Given the description of an element on the screen output the (x, y) to click on. 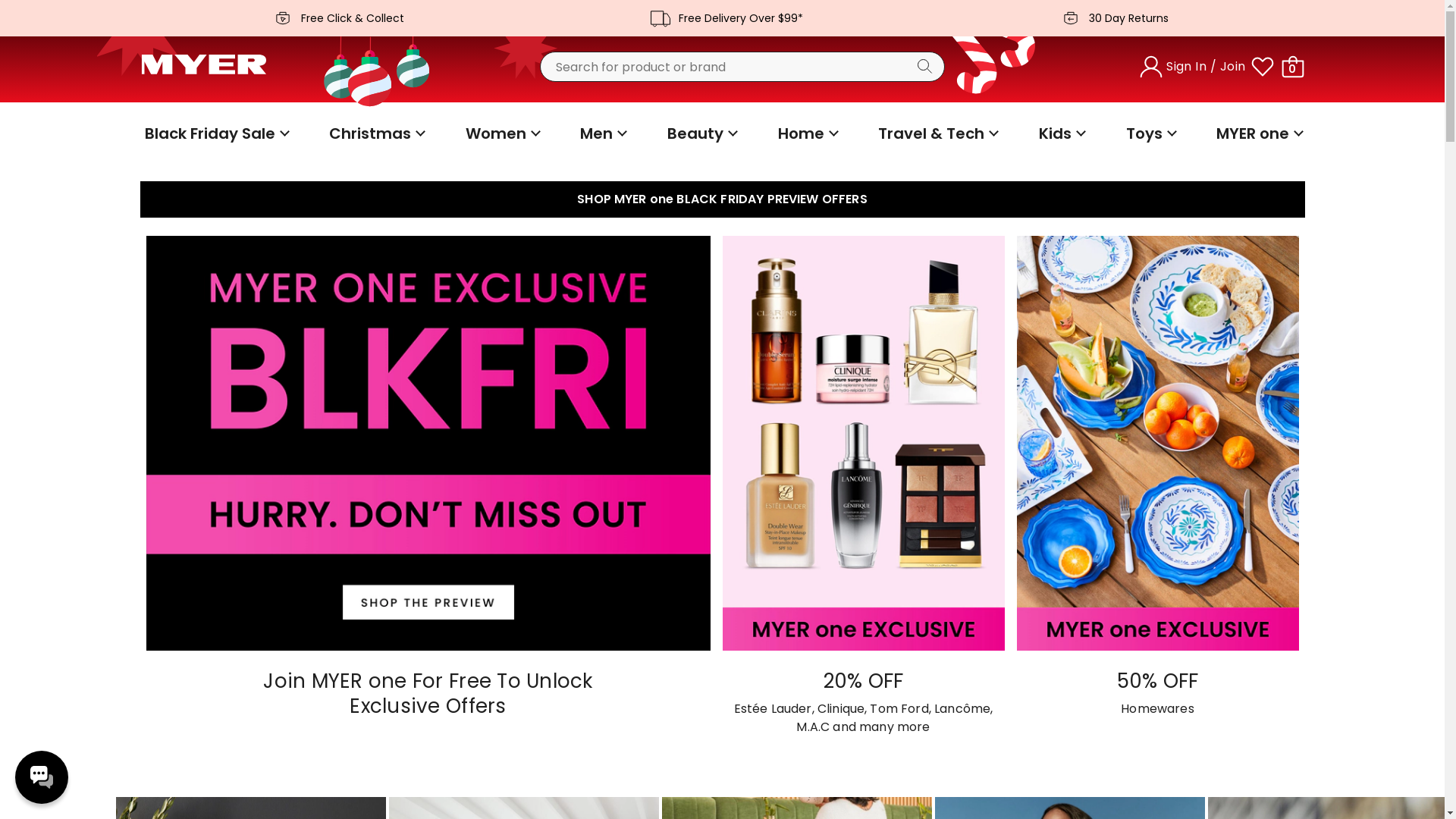
Black Friday Sale Element type: text (214, 133)
Home Element type: text (806, 133)
50% OFF
Homewares Element type: text (1154, 491)
Toys Element type: text (1149, 133)
Christmas Element type: text (375, 133)
MYER one Element type: text (1257, 133)
Join MYER one For Free To Unlock Exclusive Offers Element type: text (433, 491)
Need help? Element type: text (41, 776)
Beauty Element type: text (700, 133)
Men Element type: text (601, 133)
SHOP MYER one BLACK FRIDAY PREVIEW OFFERS Element type: text (721, 199)
Kids Element type: text (1060, 133)
Sign In / Join Element type: text (1193, 66)
Women Element type: text (501, 133)
Free Delivery Over $99* Element type: text (721, 17)
30 Day Returns Element type: text (1110, 17)
Travel & Tech Element type: text (936, 133)
Free Click & Collect Element type: text (333, 17)
0 Element type: text (1292, 66)
